Given the description of an element on the screen output the (x, y) to click on. 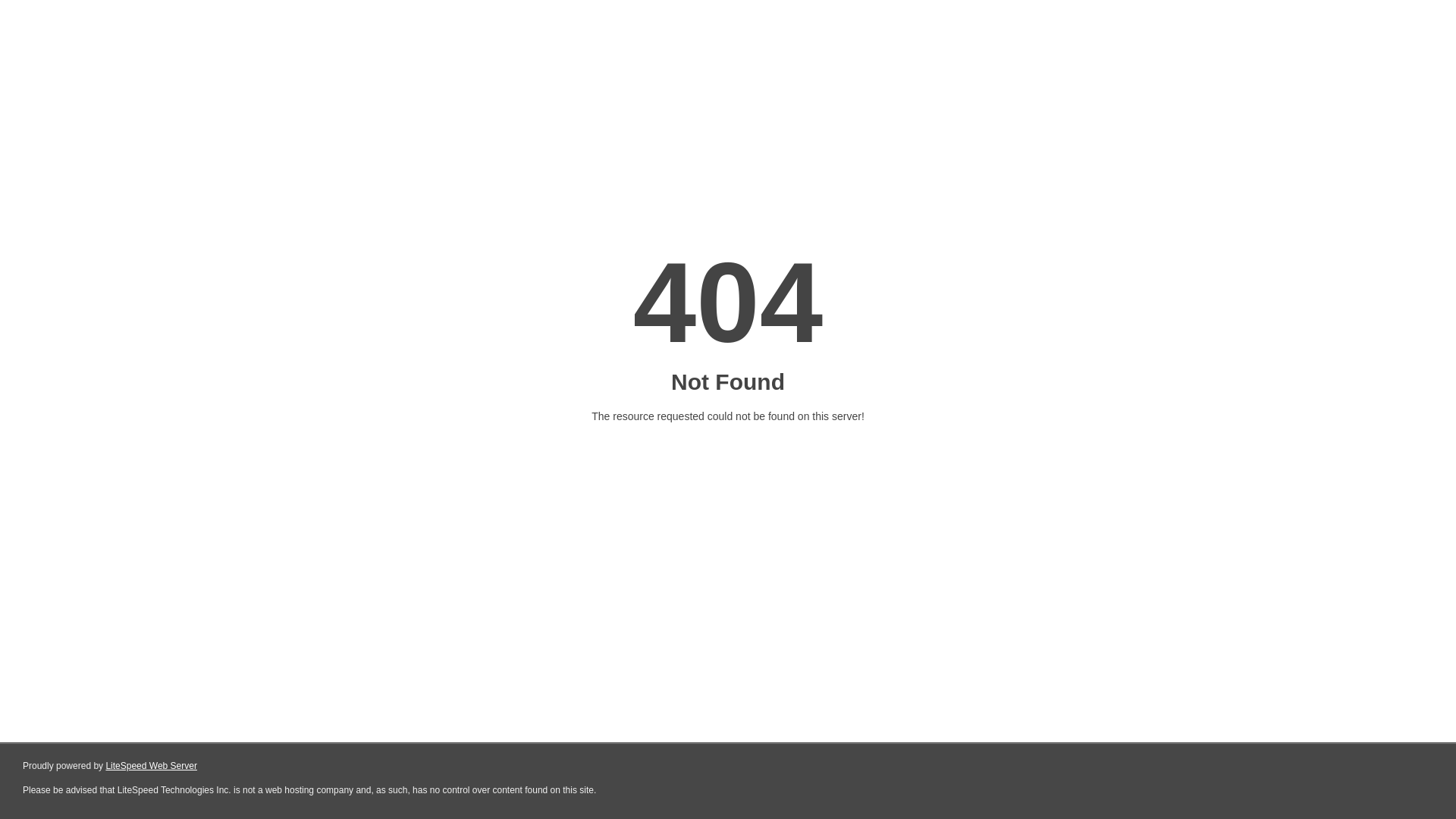
LiteSpeed Web Server Element type: text (151, 765)
